Given the description of an element on the screen output the (x, y) to click on. 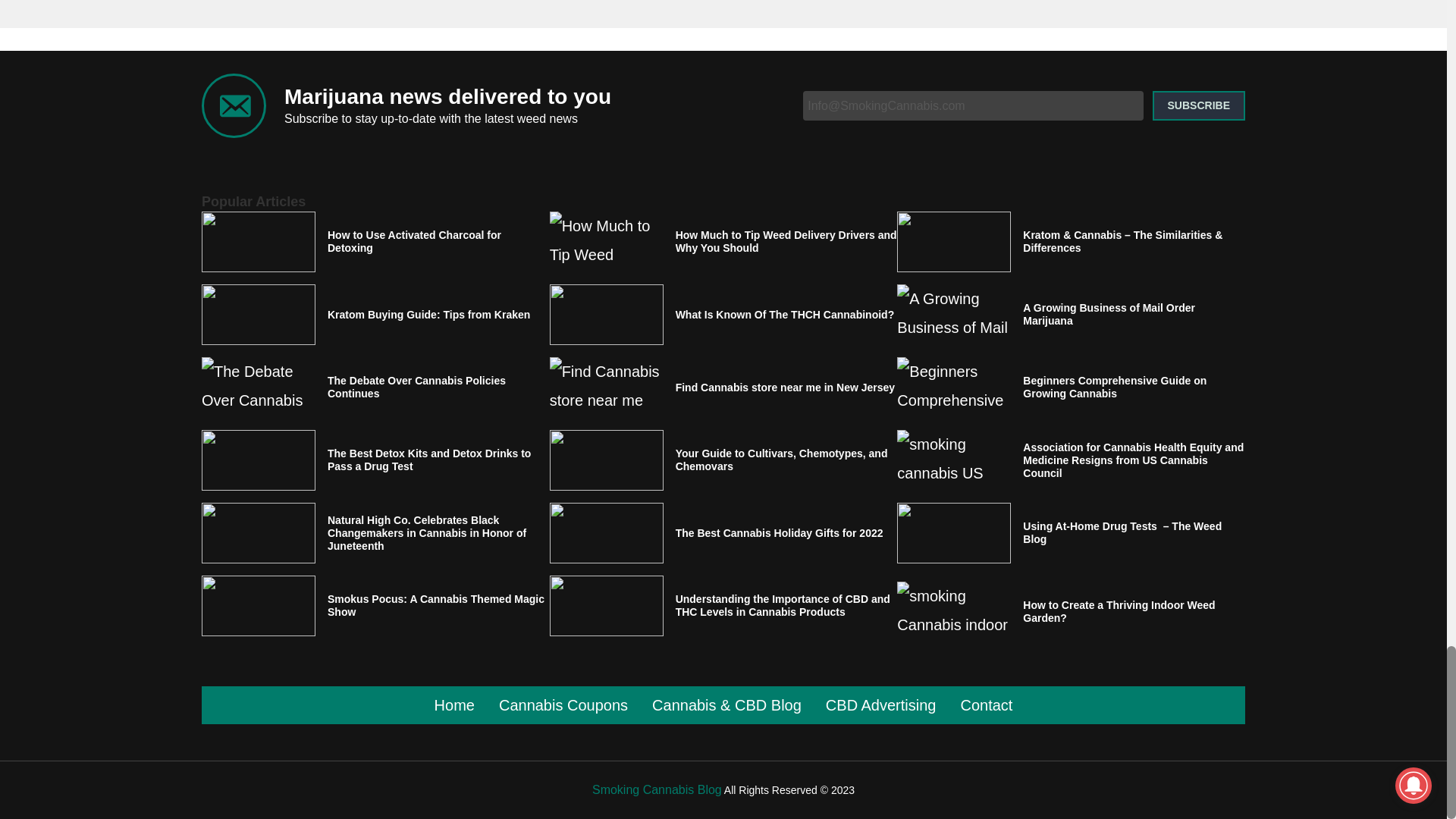
subscribe (1198, 105)
subscribe (1198, 105)
How to Use Activated Charcoal for Detoxing (438, 241)
